Given the description of an element on the screen output the (x, y) to click on. 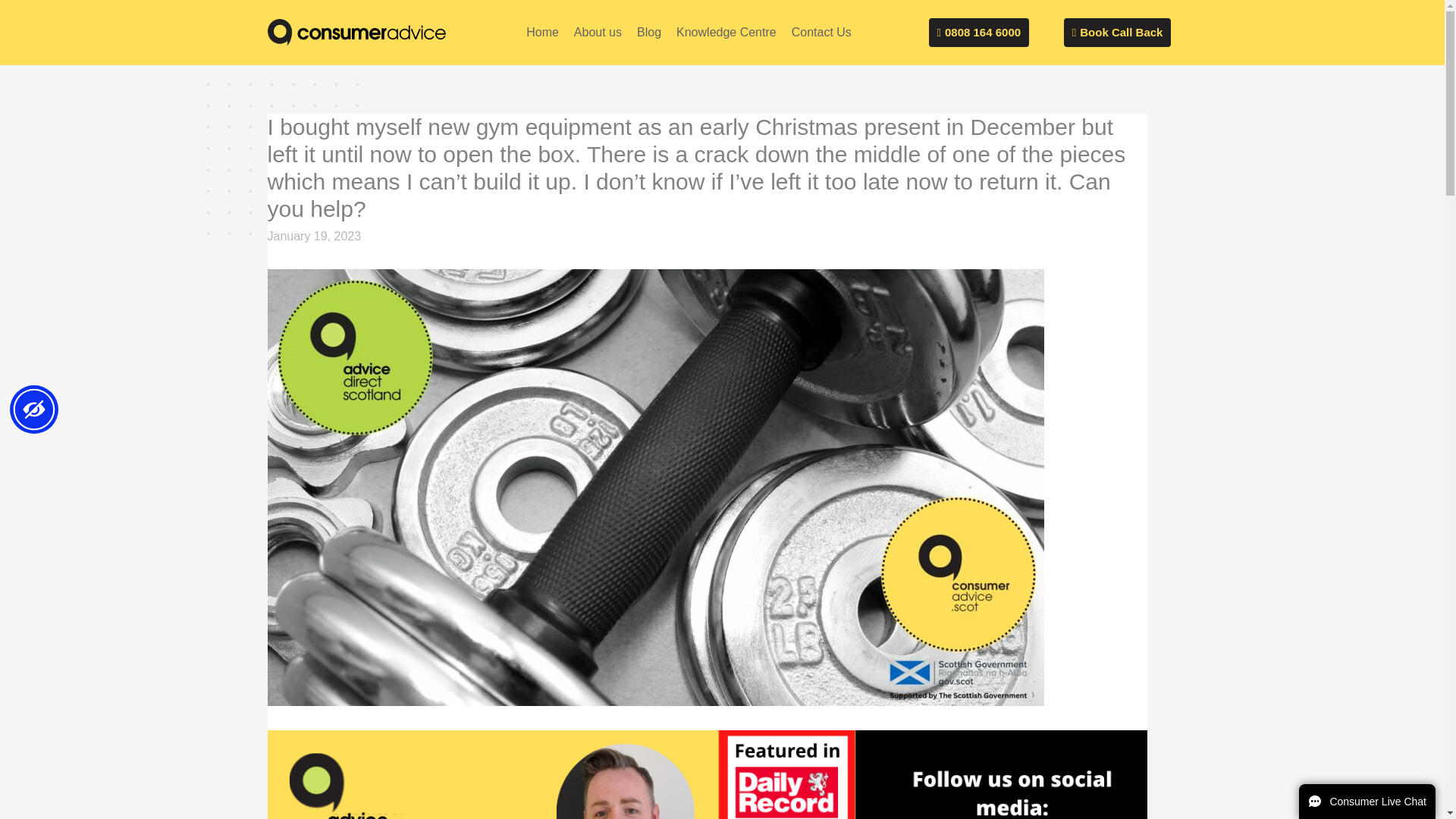
Book Call Back (1118, 32)
0808 164 6000 (978, 32)
Home (542, 32)
Knowledge Centre (726, 32)
About us (597, 32)
Contact Us (821, 32)
Accessibility Menu (34, 409)
Blog (648, 32)
